Given the description of an element on the screen output the (x, y) to click on. 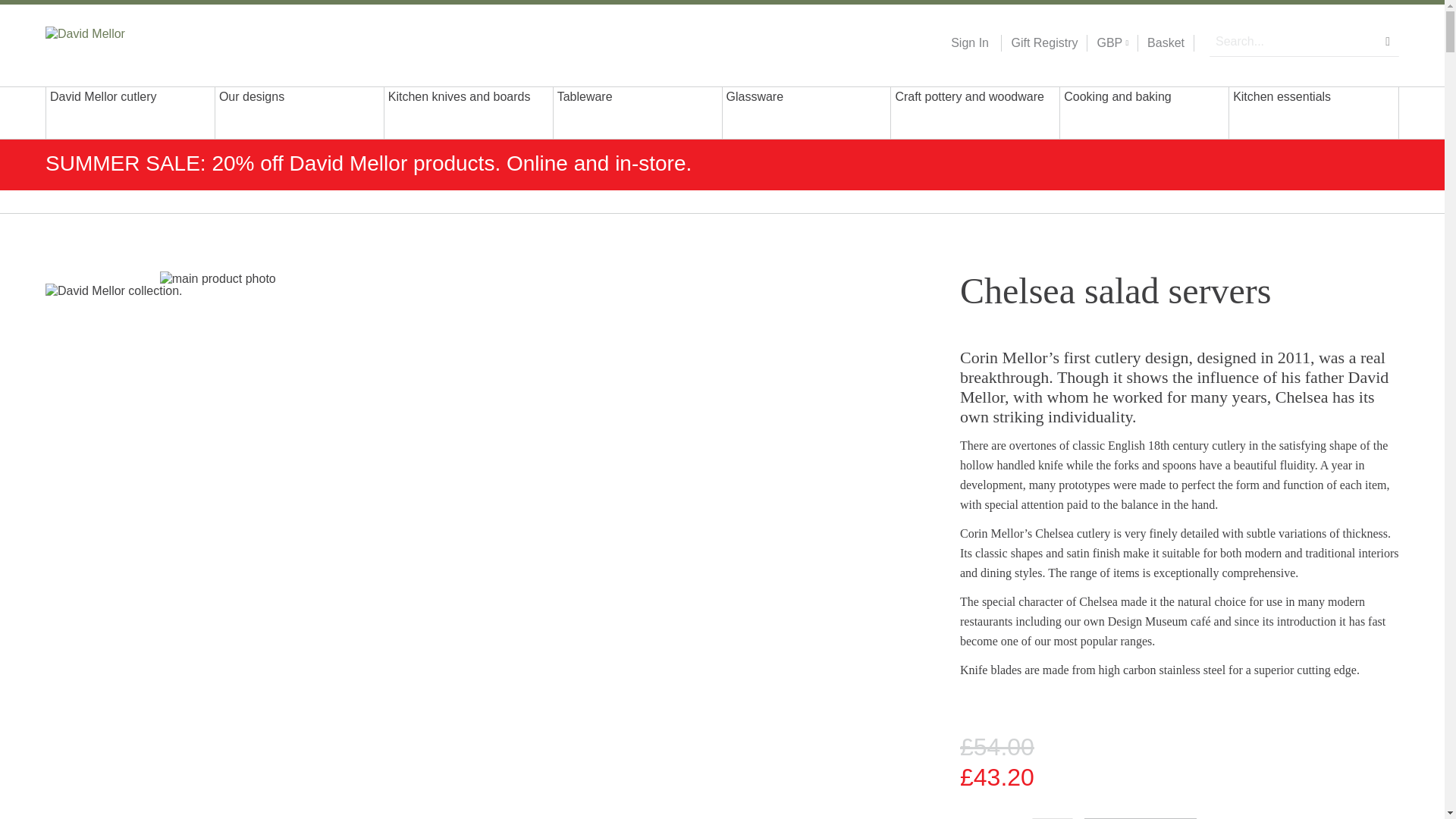
David Mellor (143, 42)
David Mellor cutlery (130, 112)
Gift Registry (1039, 43)
Qty (1052, 818)
1 (1052, 818)
Basket (1166, 43)
Sign In (969, 43)
Search (1388, 41)
Search (1388, 41)
